Given the description of an element on the screen output the (x, y) to click on. 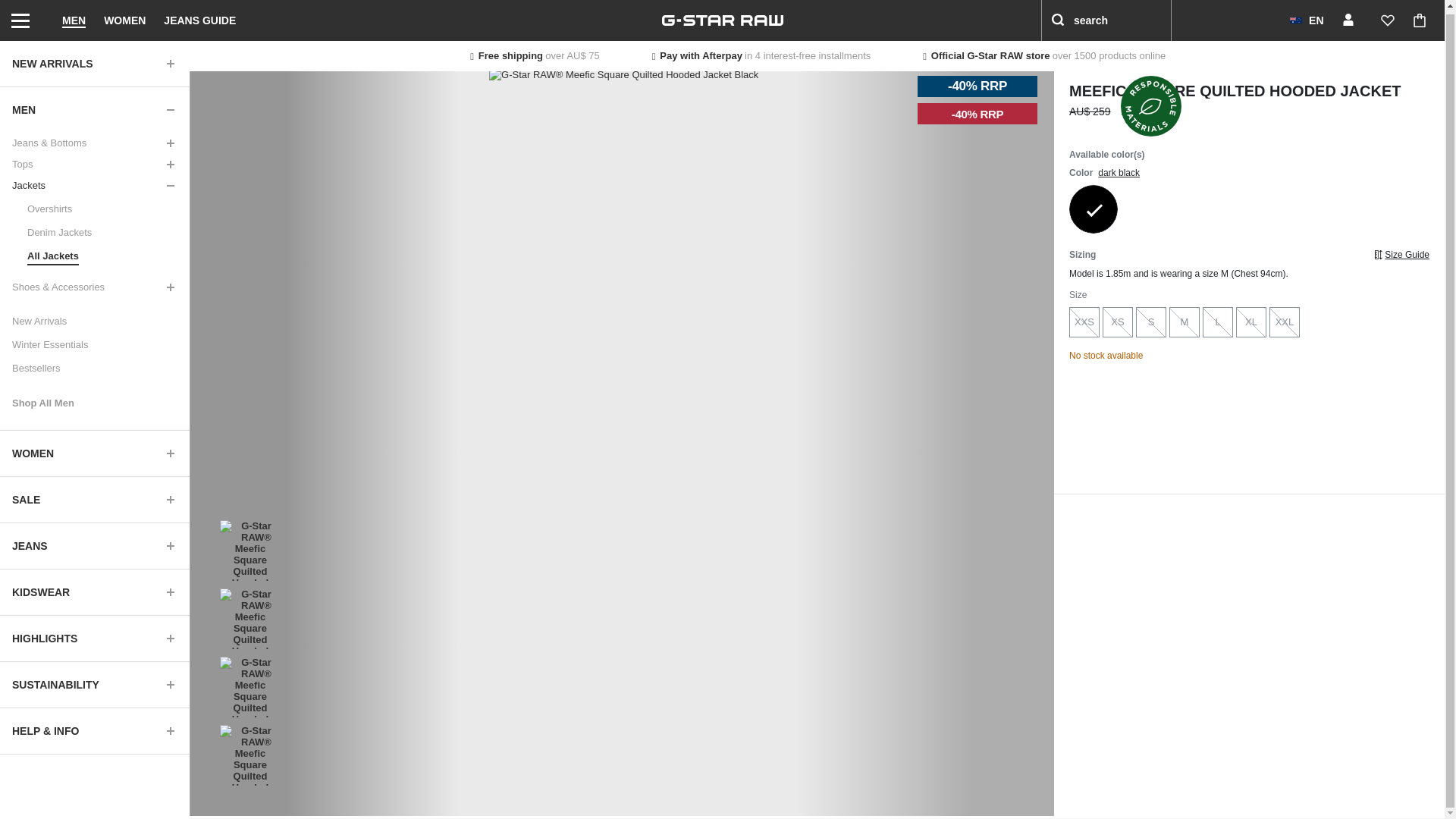
Meefic Square Quilted Hooded Jacket dark black (1093, 208)
EN (1306, 18)
Meefic Squared Quilted Hooded Jacket reflective sea blue (1248, 209)
NEW ARRIVALS (94, 60)
G-Star RAW (721, 18)
Meefic Squared Quilted Hooded Jacket reflective black (1196, 209)
All Jackets (48, 252)
Overshirts (44, 205)
Jackets (94, 182)
WOMEN (124, 18)
